Given the description of an element on the screen output the (x, y) to click on. 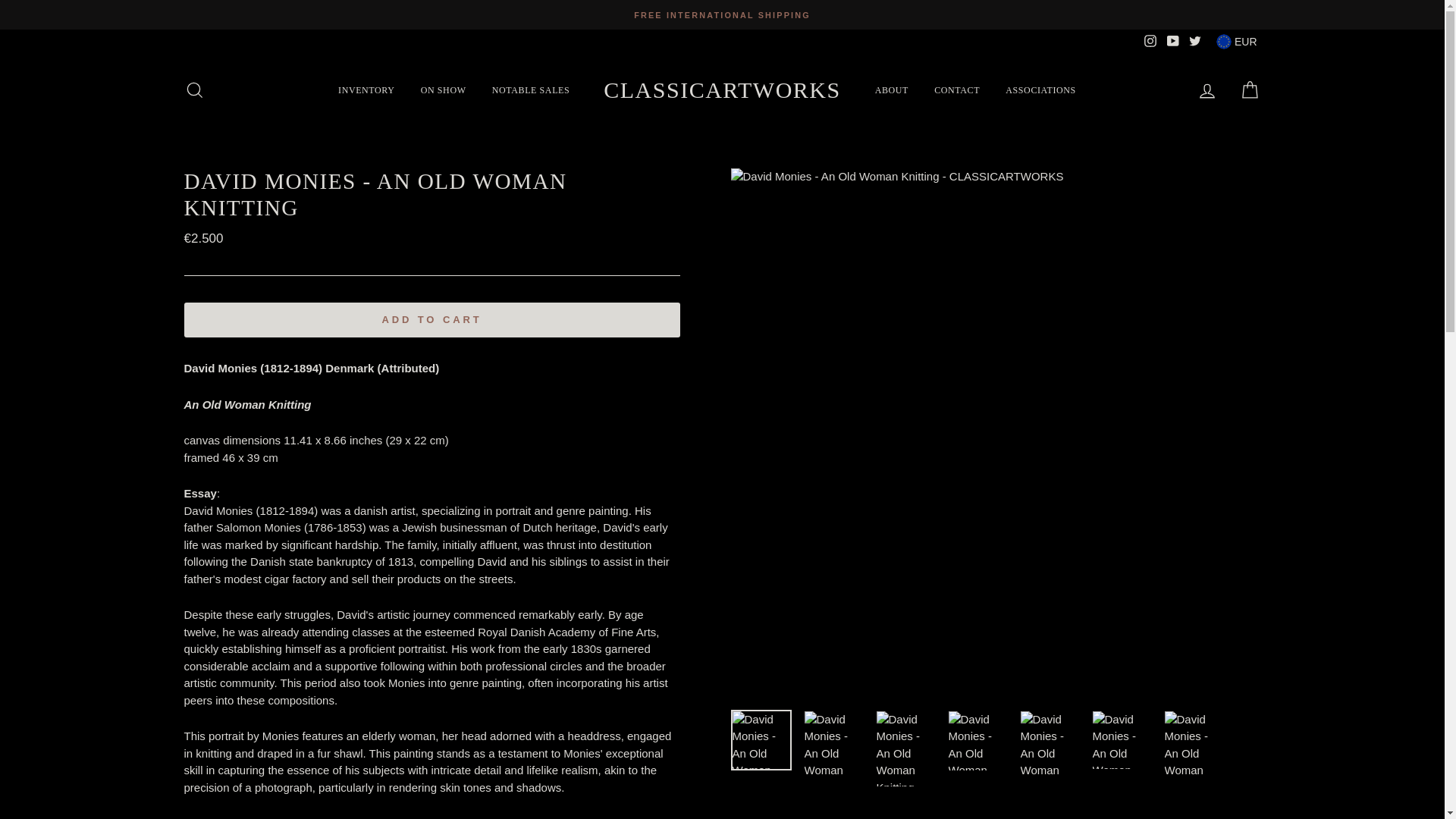
CONTACT (957, 89)
SEARCH (194, 89)
CART (1249, 89)
ON SHOW (443, 89)
YouTube (1172, 41)
LOG IN (1207, 89)
INVENTORY (366, 89)
CLASSICARTWORKS (722, 89)
FREE INTERNATIONAL SHIPPING (722, 14)
